Given the description of an element on the screen output the (x, y) to click on. 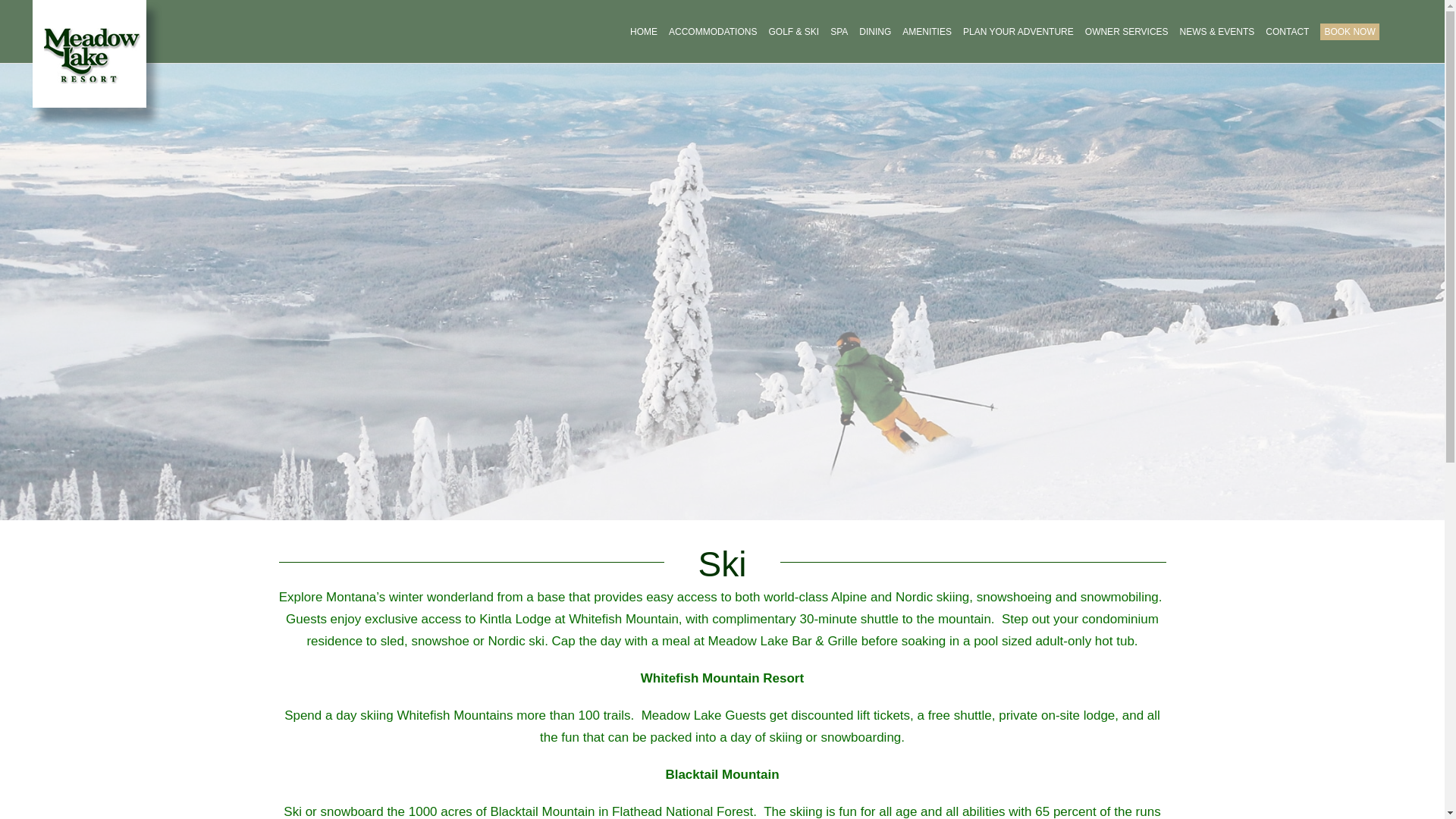
ACCOMMODATIONS (712, 31)
OWNER SERVICES (1126, 31)
PLAN YOUR ADVENTURE (1018, 31)
